Given the description of an element on the screen output the (x, y) to click on. 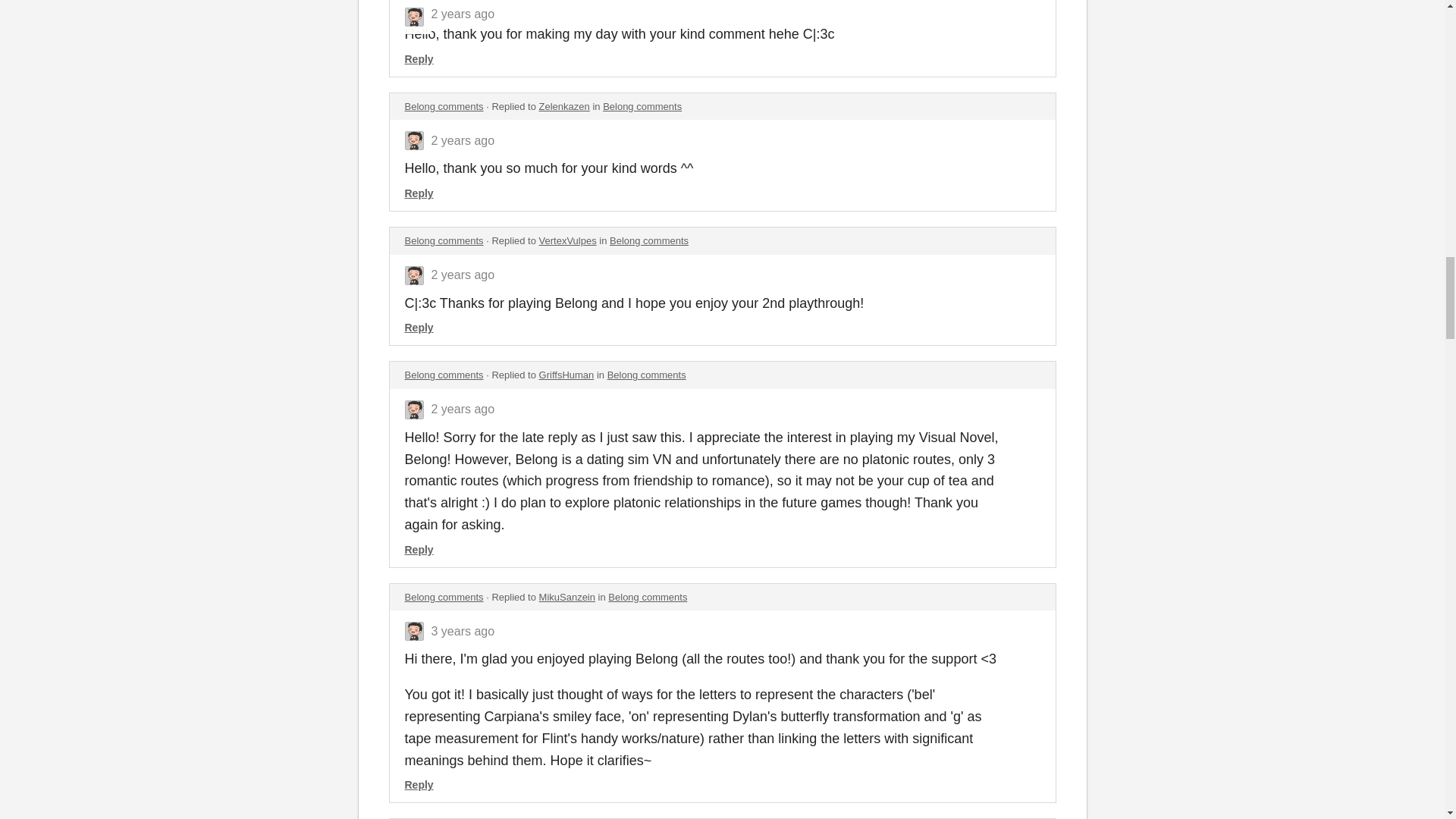
2022-02-28 01:21:00 (462, 6)
